Given the description of an element on the screen output the (x, y) to click on. 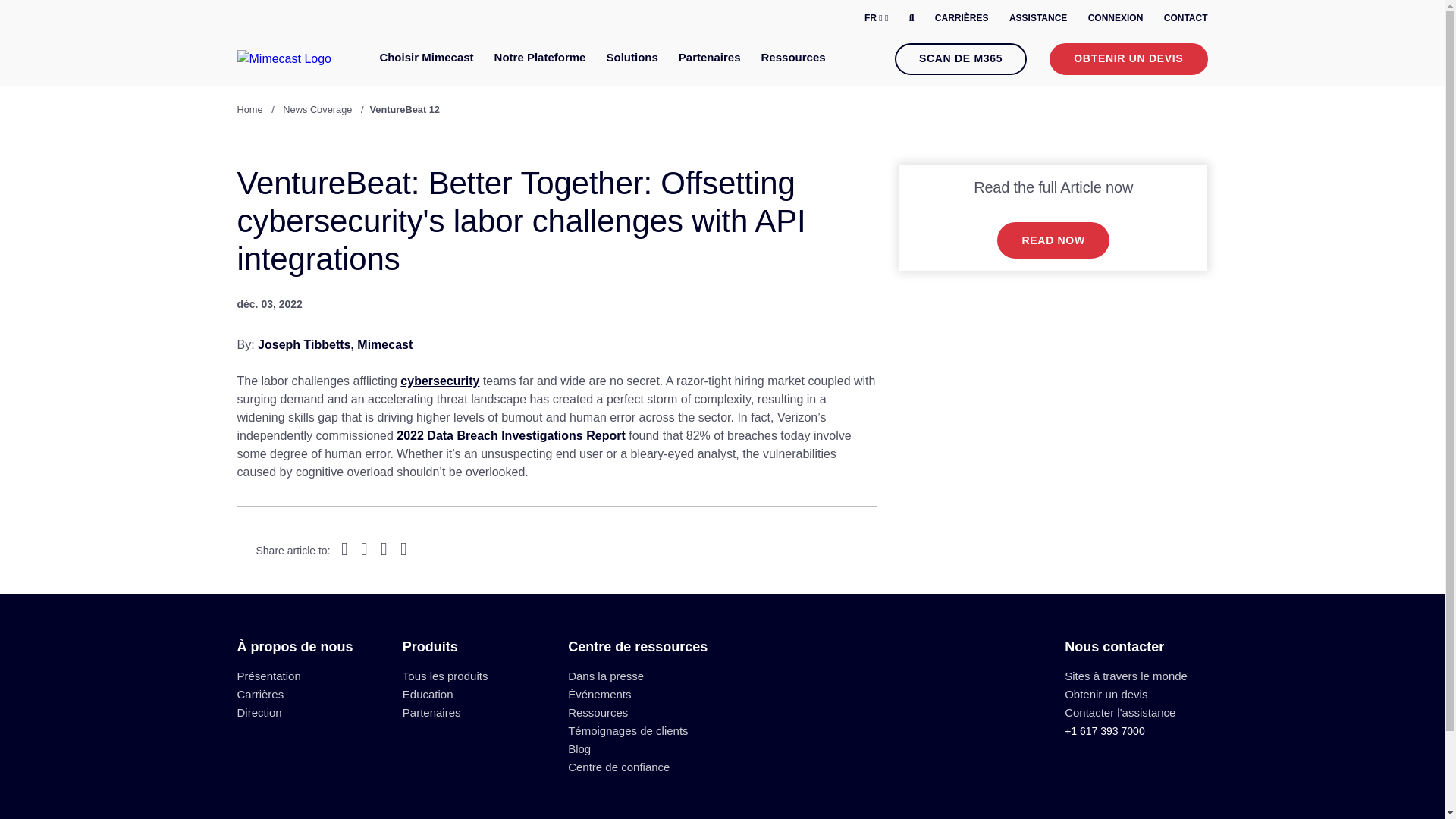
CONNEXION (1114, 18)
CONTACT (1185, 18)
ASSISTANCE (1038, 18)
